Given the description of an element on the screen output the (x, y) to click on. 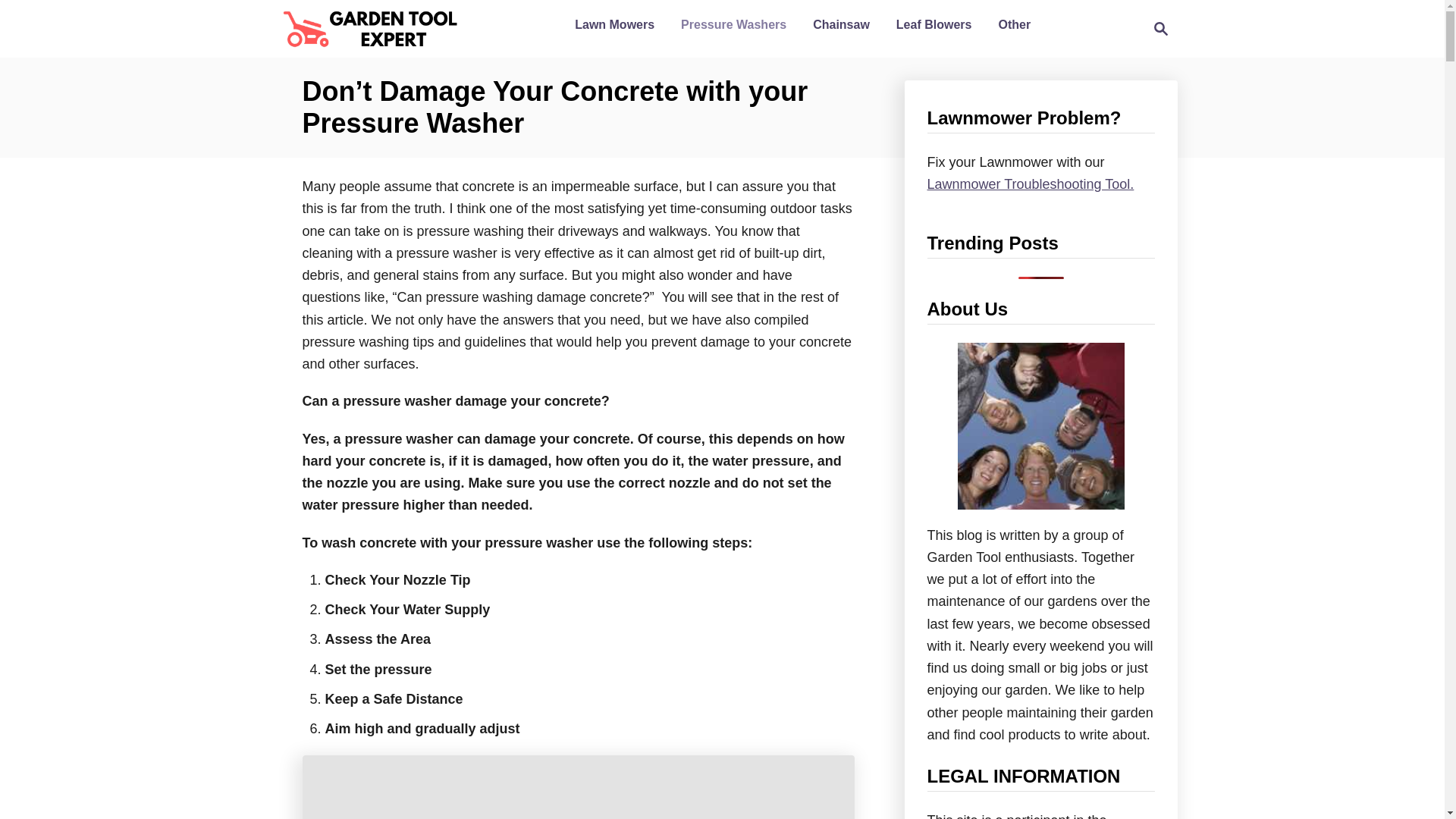
Pressure Washers (732, 24)
Garden Tool Expert Store (369, 28)
Magnifying Glass (1160, 28)
Chainsaw (841, 24)
Lawn Mowers (614, 24)
Leaf Blowers (933, 24)
Other (1155, 28)
